Given the description of an element on the screen output the (x, y) to click on. 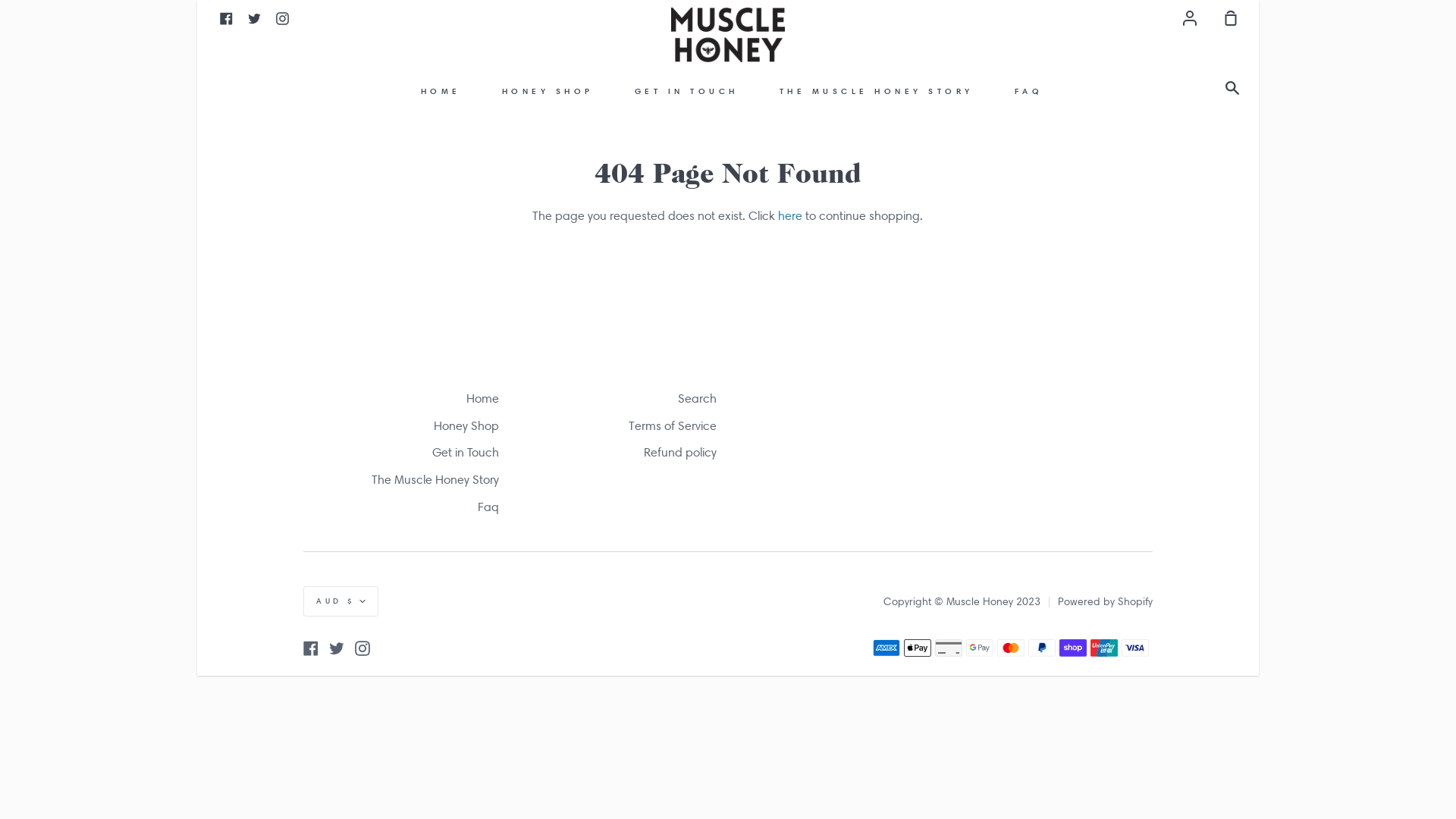
Instagram Element type: text (362, 647)
AUD $ Element type: text (340, 601)
Twitter Element type: text (336, 647)
Instagram Element type: text (282, 16)
here Element type: text (790, 215)
HOME Element type: text (440, 90)
Twitter Element type: text (253, 16)
Search Element type: text (696, 399)
Terms of Service Element type: text (672, 427)
Account Element type: text (1189, 17)
Home Element type: text (481, 399)
Facebook Element type: text (225, 16)
Shopping Cart Element type: text (1224, 17)
FAQ Element type: text (1028, 90)
Facebook Element type: text (310, 647)
HONEY SHOP Element type: text (547, 90)
Search Element type: text (1235, 88)
The Muscle Honey Story Element type: text (434, 480)
Powered by Shopify Element type: text (1104, 601)
Honey Shop Element type: text (465, 427)
Faq Element type: text (487, 508)
Refund policy Element type: text (679, 453)
THE MUSCLE HONEY STORY Element type: text (876, 90)
GET IN TOUCH Element type: text (686, 90)
Get in Touch Element type: text (465, 453)
